Given the description of an element on the screen output the (x, y) to click on. 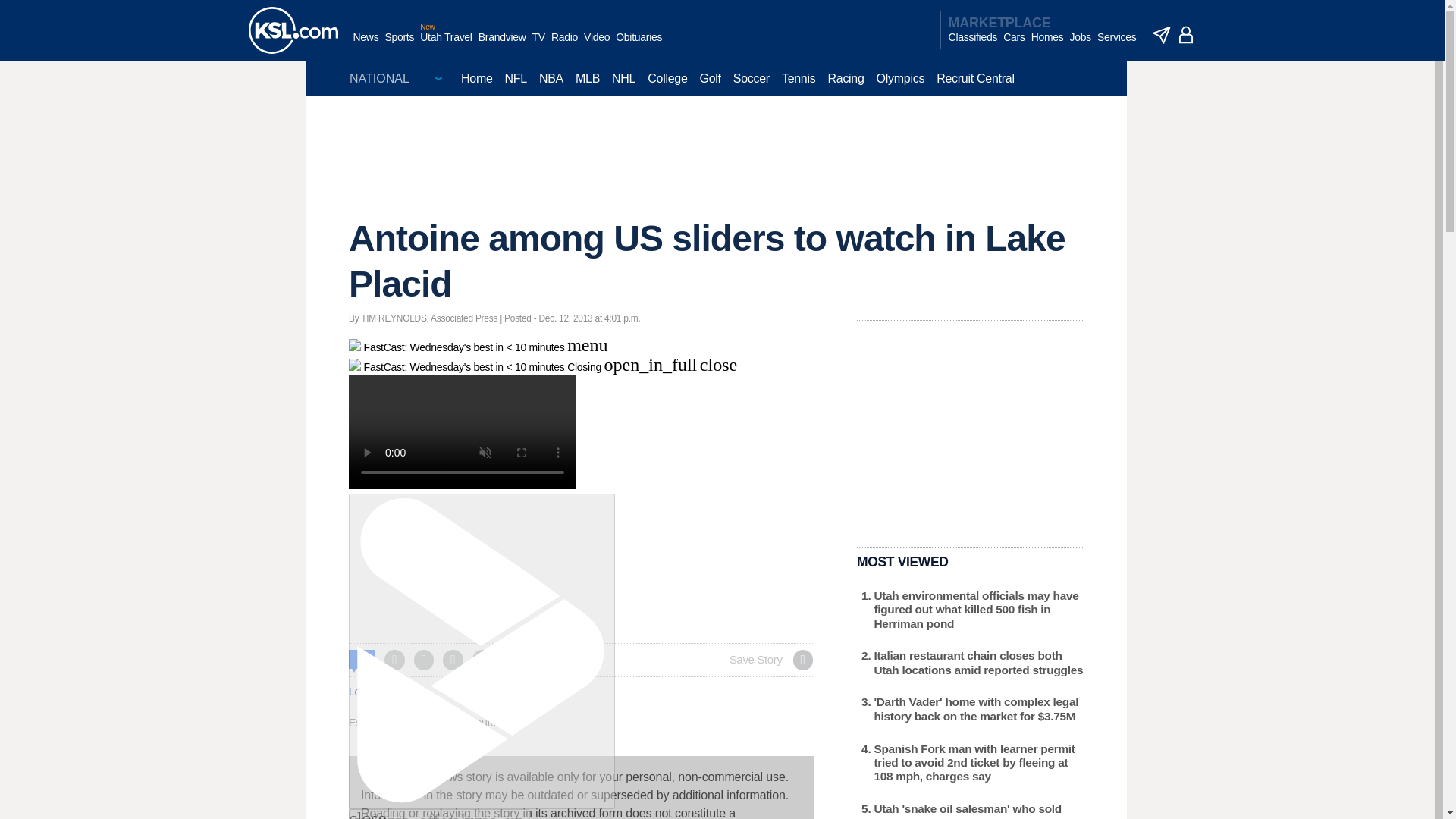
KSL homepage (292, 29)
Utah Travel (445, 45)
Brandview (502, 45)
KSL homepage (292, 30)
account - logged out (1185, 34)
Sports (398, 45)
